Given the description of an element on the screen output the (x, y) to click on. 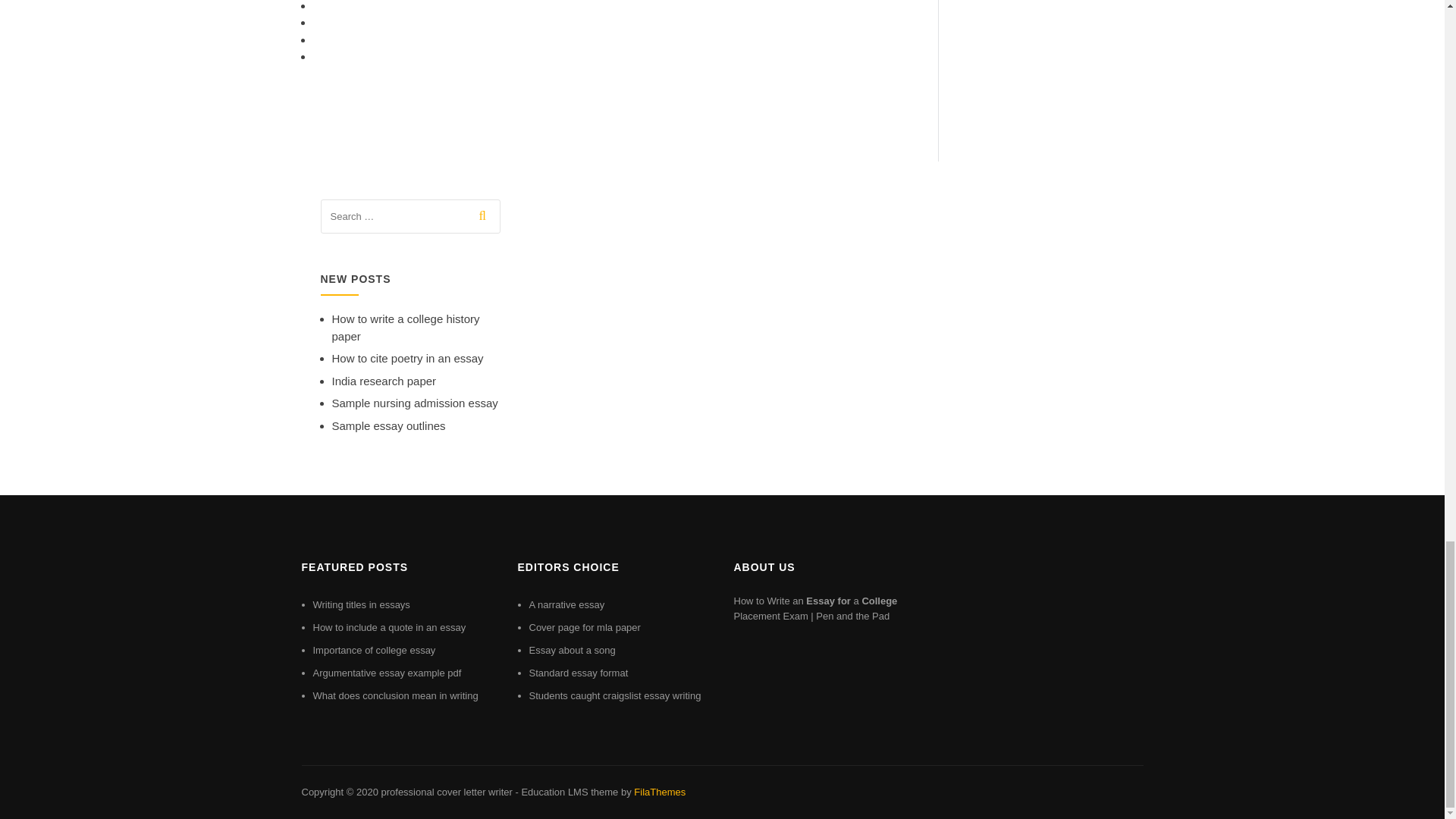
Sample nursing admission essay (414, 402)
Writing titles in essays (361, 604)
Sample essay outlines (388, 425)
What does conclusion mean in writing (395, 695)
Importance of college essay (374, 650)
Standard essay format (578, 672)
professional cover letter writer (446, 791)
How to cite poetry in an essay (407, 358)
How to write a college history paper (405, 327)
A narrative essay (567, 604)
Cover page for mla paper (584, 627)
professional cover letter writer (446, 791)
India research paper (383, 380)
Students caught craigslist essay writing (615, 695)
Argumentative essay example pdf (387, 672)
